Given the description of an element on the screen output the (x, y) to click on. 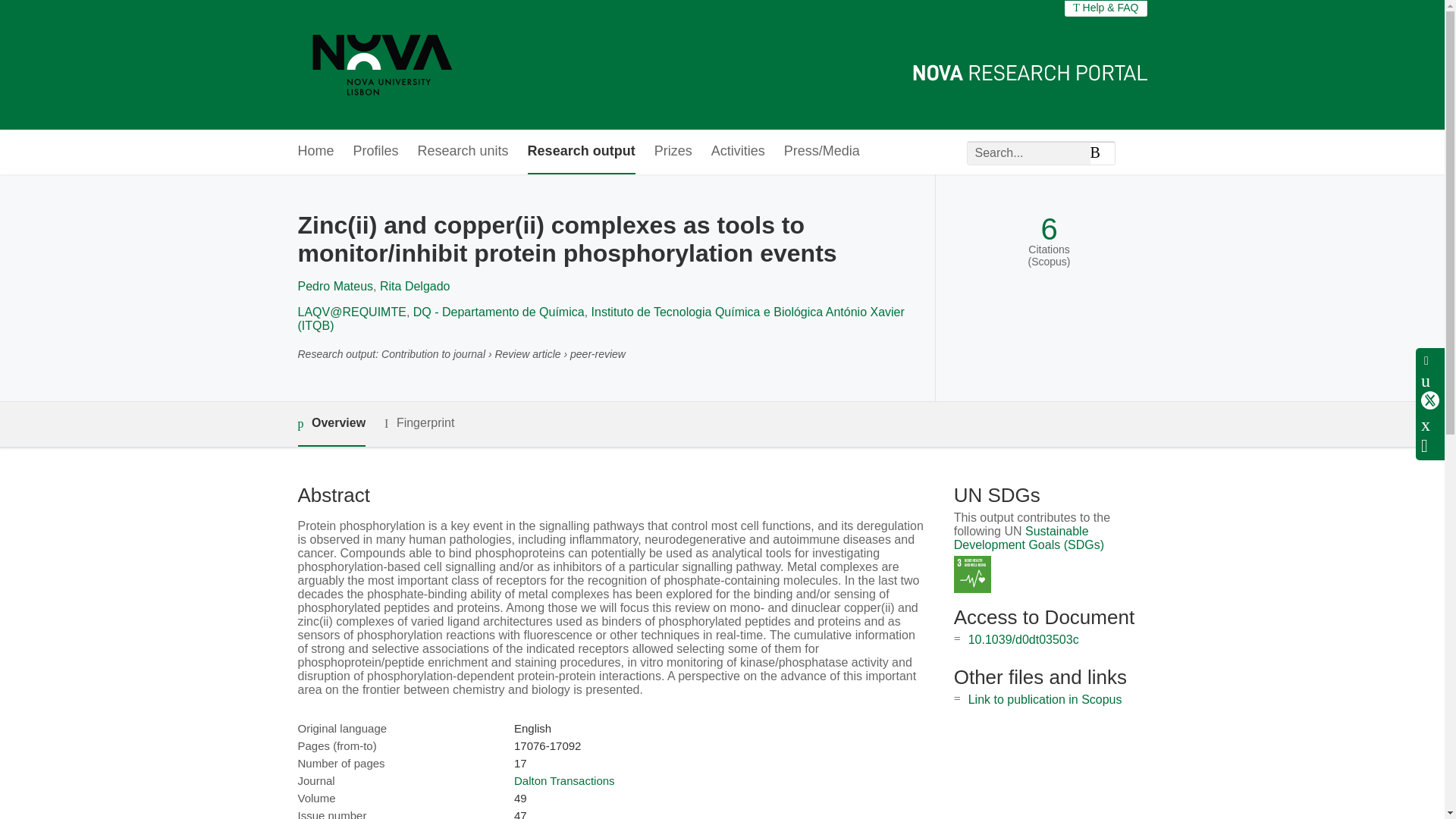
Dalton Transactions (563, 780)
Pedro Mateus (334, 286)
Overview (331, 424)
Activities (738, 151)
Profiles (375, 151)
Universidade NOVA de Lisboa Home (382, 64)
Fingerprint (419, 423)
Research output (580, 151)
SDG 3 - Good Health and Well-being (972, 574)
Link to publication in Scopus (1045, 698)
Rita Delgado (414, 286)
Research units (462, 151)
